Given the description of an element on the screen output the (x, y) to click on. 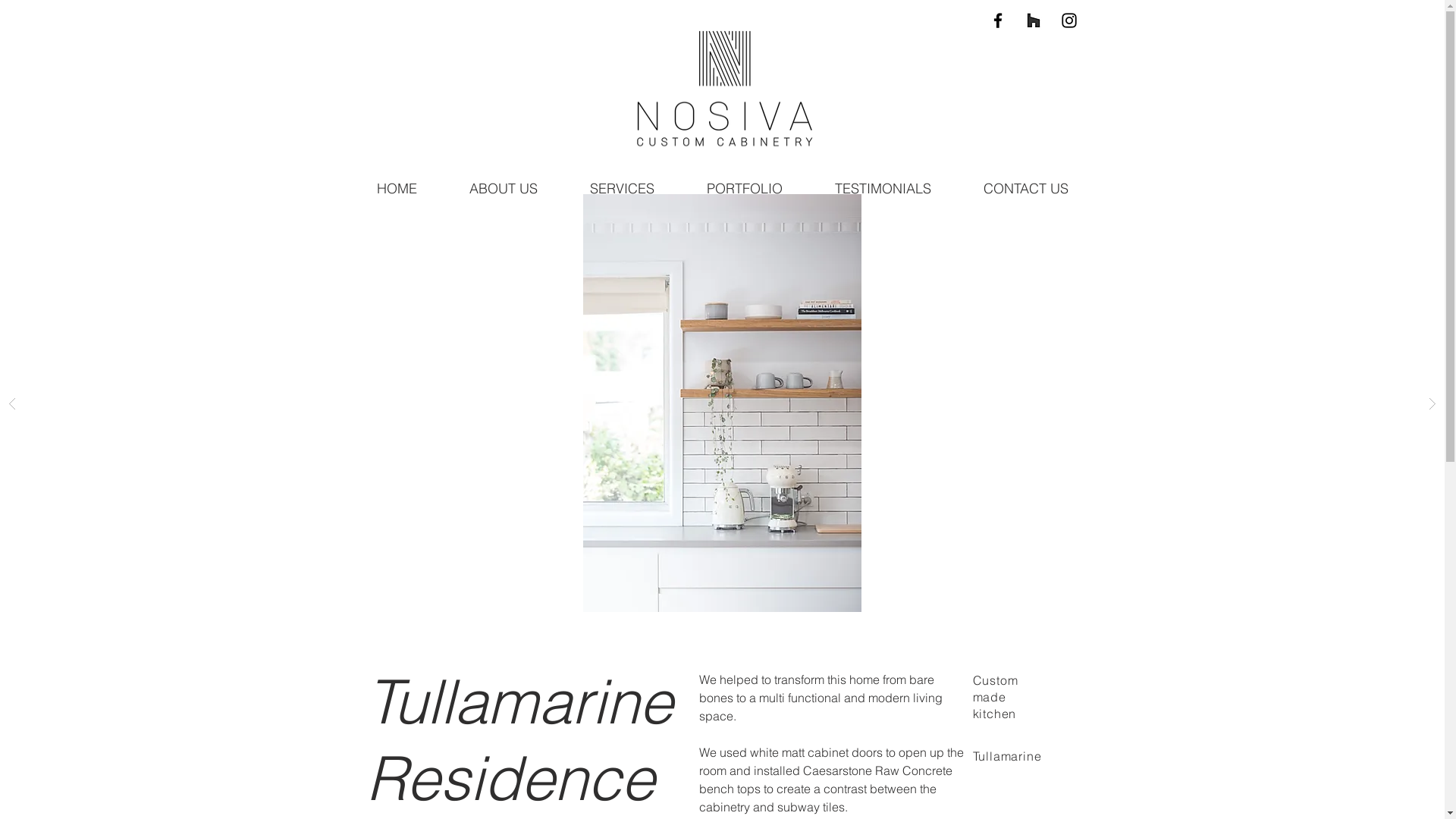
HOME Element type: text (396, 188)
CONTACT US Element type: text (1025, 188)
SERVICES Element type: text (622, 188)
TESTIMONIALS Element type: text (882, 188)
PORTFOLIO Element type: text (744, 188)
ABOUT US Element type: text (502, 188)
